Given the description of an element on the screen output the (x, y) to click on. 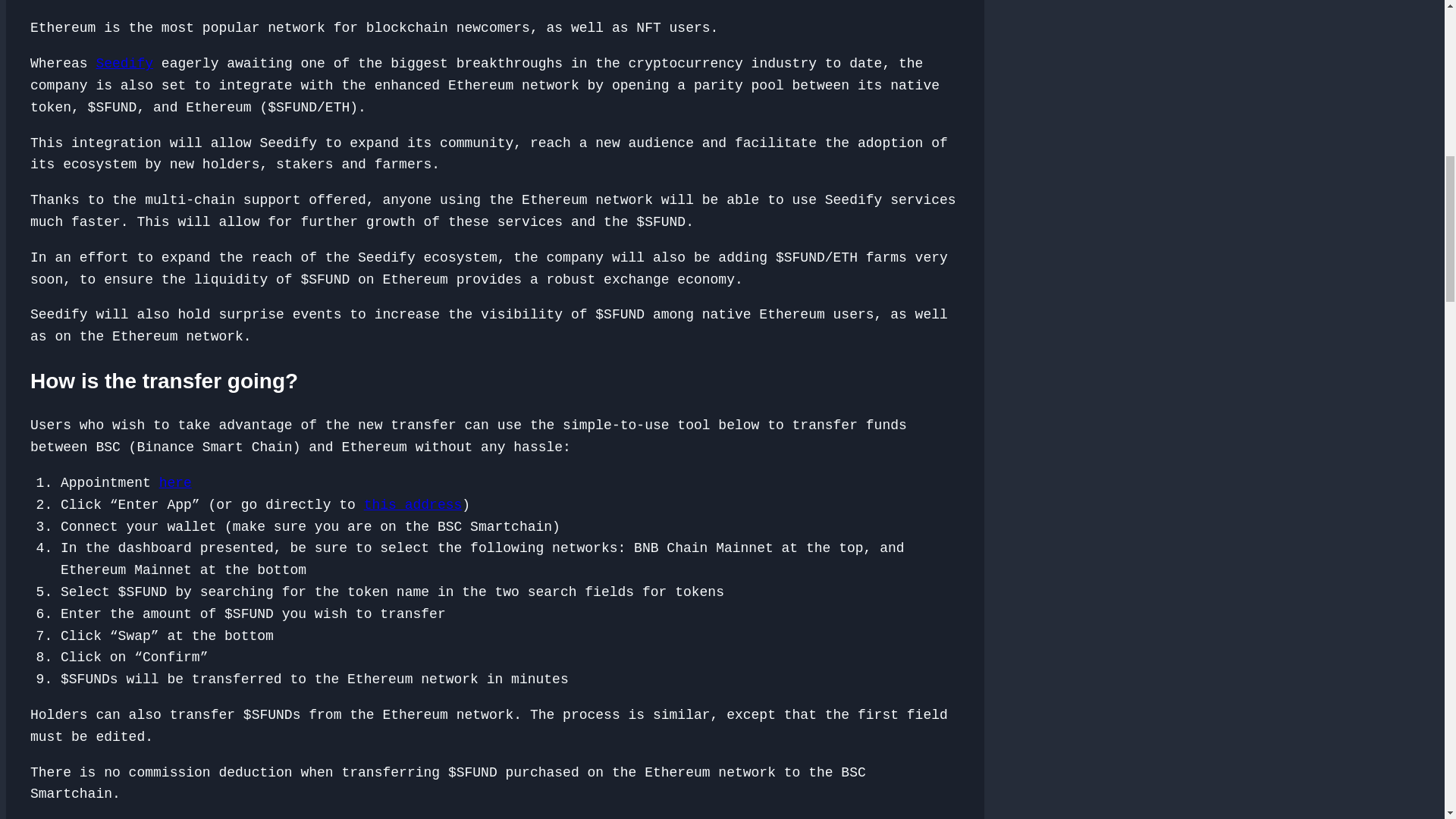
Seedify (124, 63)
here (175, 482)
this address (413, 504)
